Given the description of an element on the screen output the (x, y) to click on. 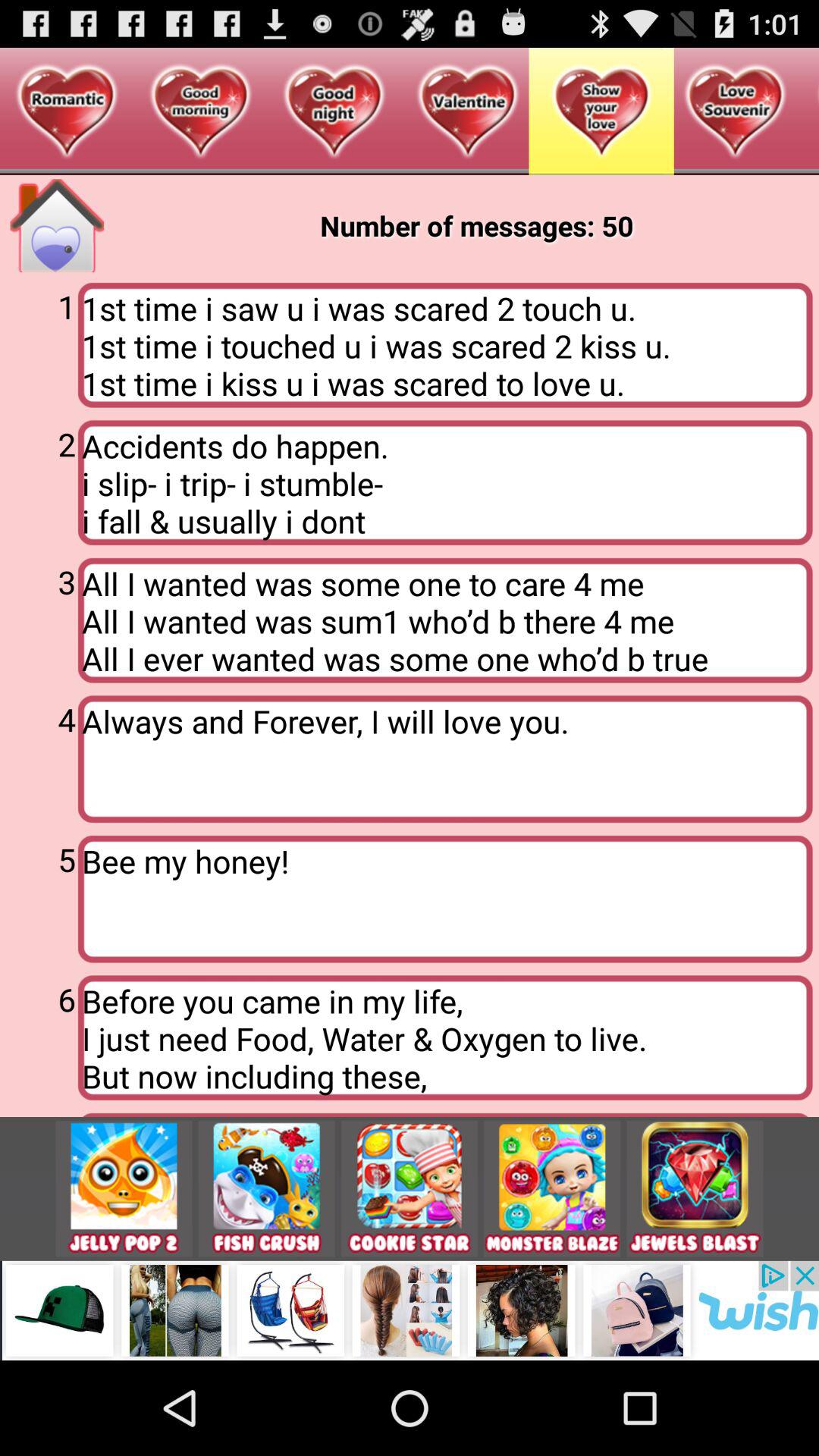
messages box (57, 225)
